Given the description of an element on the screen output the (x, y) to click on. 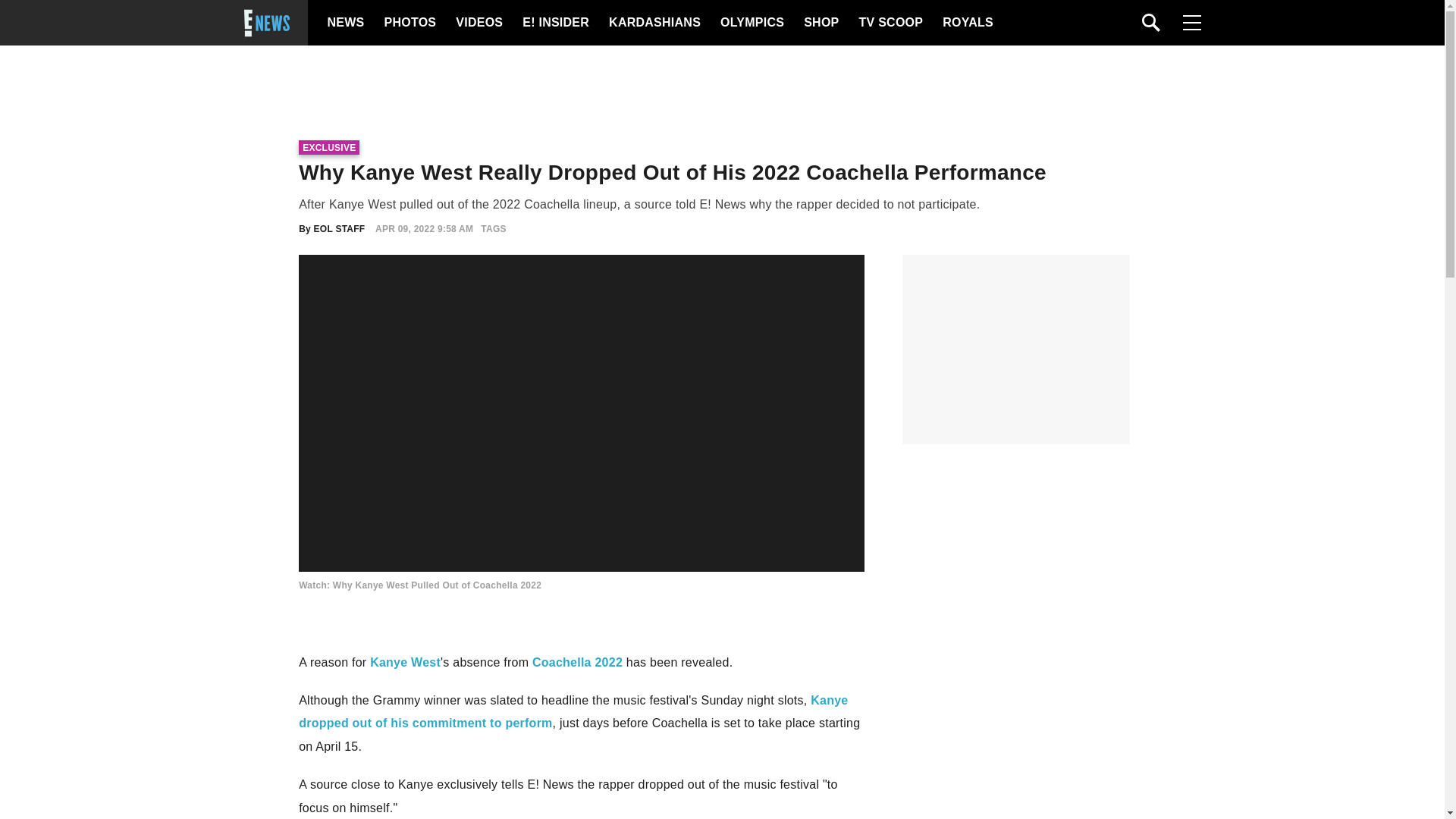
SHOP (820, 22)
KARDASHIANS (653, 22)
EOL STAFF (339, 228)
NEWS (345, 22)
VIDEOS (478, 22)
Coachella 2022 (577, 662)
ROYALS (966, 22)
TV SCOOP (890, 22)
Kanye West (405, 662)
Kanye dropped out of his commitment to perform (572, 711)
E! INSIDER (555, 22)
OLYMPICS (751, 22)
PHOTOS (408, 22)
